Given the description of an element on the screen output the (x, y) to click on. 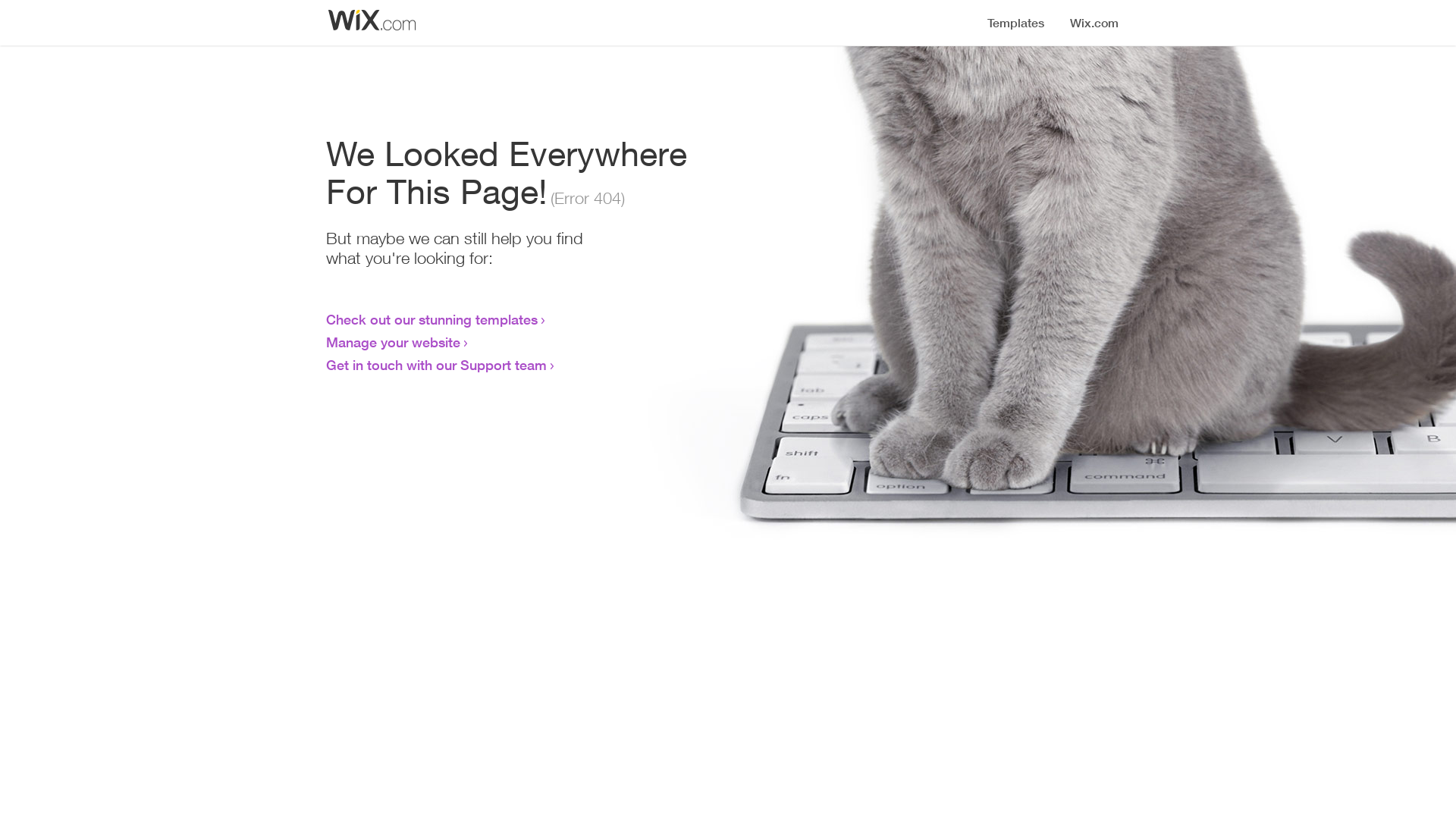
Get in touch with our Support team Element type: text (436, 364)
Check out our stunning templates Element type: text (431, 318)
Manage your website Element type: text (393, 341)
